Given the description of an element on the screen output the (x, y) to click on. 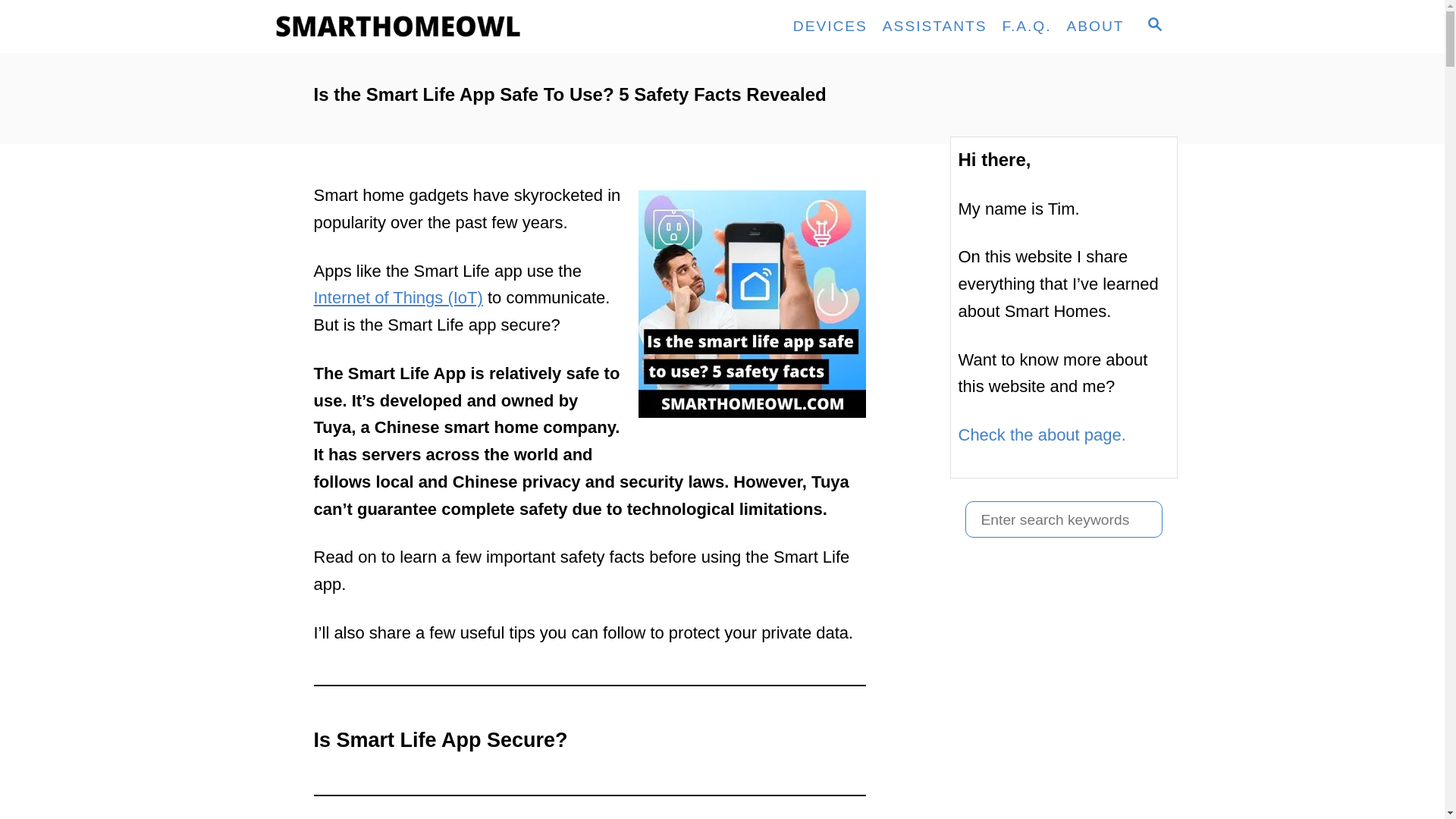
Search for: (1062, 519)
ABOUT (1095, 26)
SmartHomeOwl (403, 26)
DEVICES (830, 26)
ASSISTANTS (934, 26)
SEARCH (1153, 26)
F.A.Q. (1026, 26)
